Given the description of an element on the screen output the (x, y) to click on. 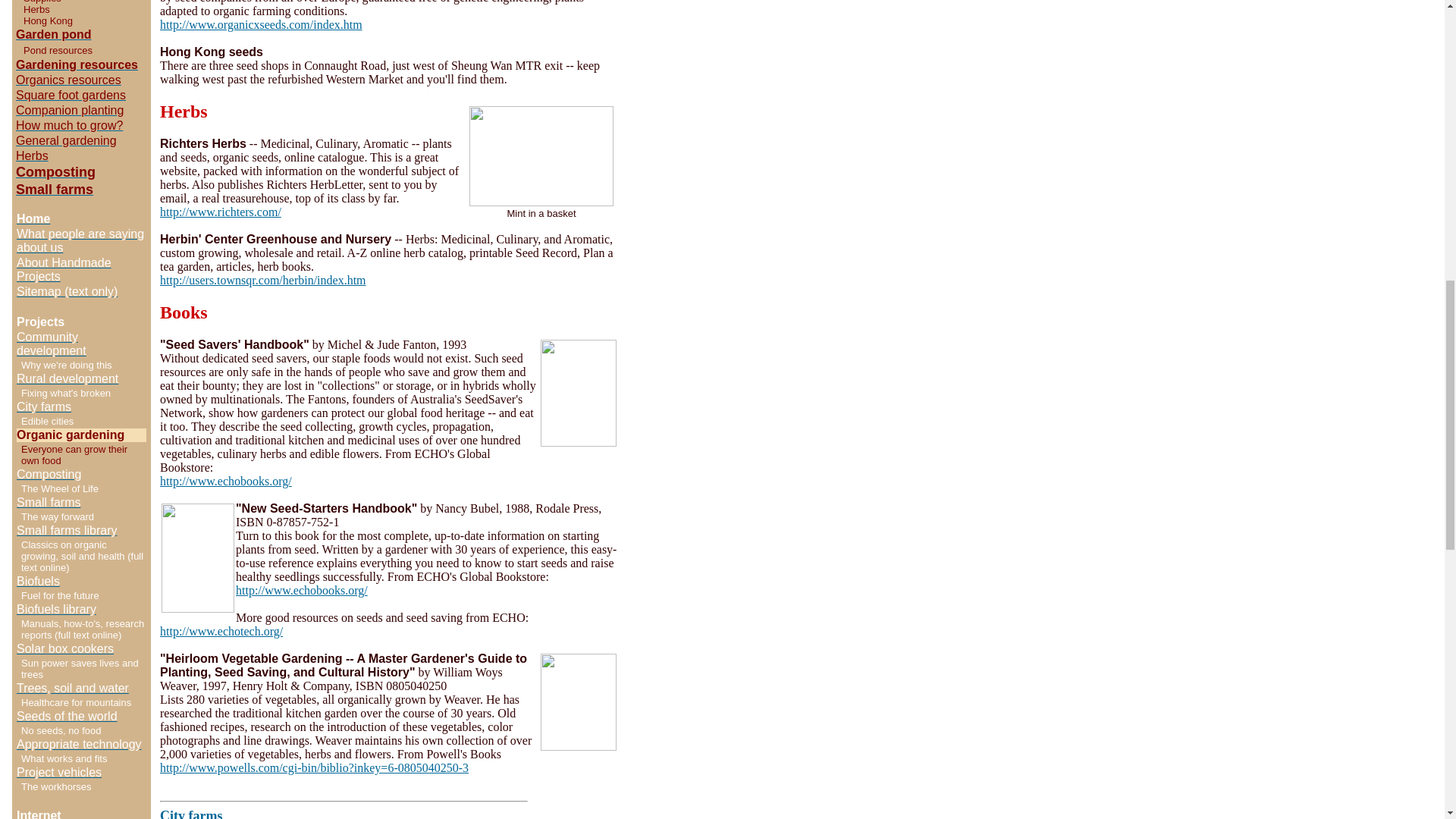
Biofuels (37, 581)
Small farms library (66, 530)
Organics resources (68, 79)
Biofuels library (56, 608)
Small farms (54, 189)
About Handmade Projects (64, 269)
Community development (50, 343)
Appropriate technology (78, 744)
Gardening resources (77, 64)
Herbs (32, 155)
